Given the description of an element on the screen output the (x, y) to click on. 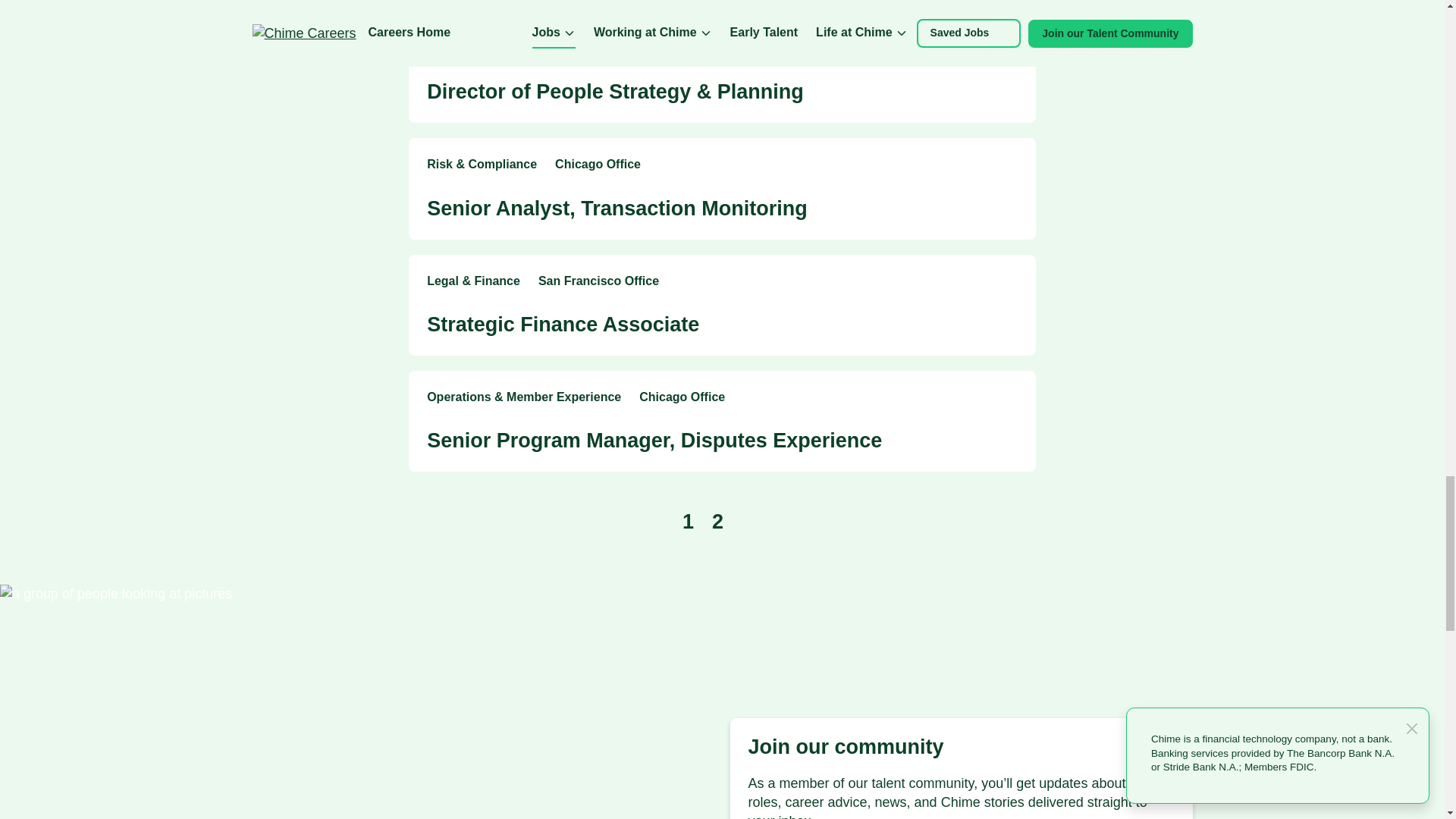
Save (1009, 49)
Save (1009, 165)
Save (1009, 282)
